Given the description of an element on the screen output the (x, y) to click on. 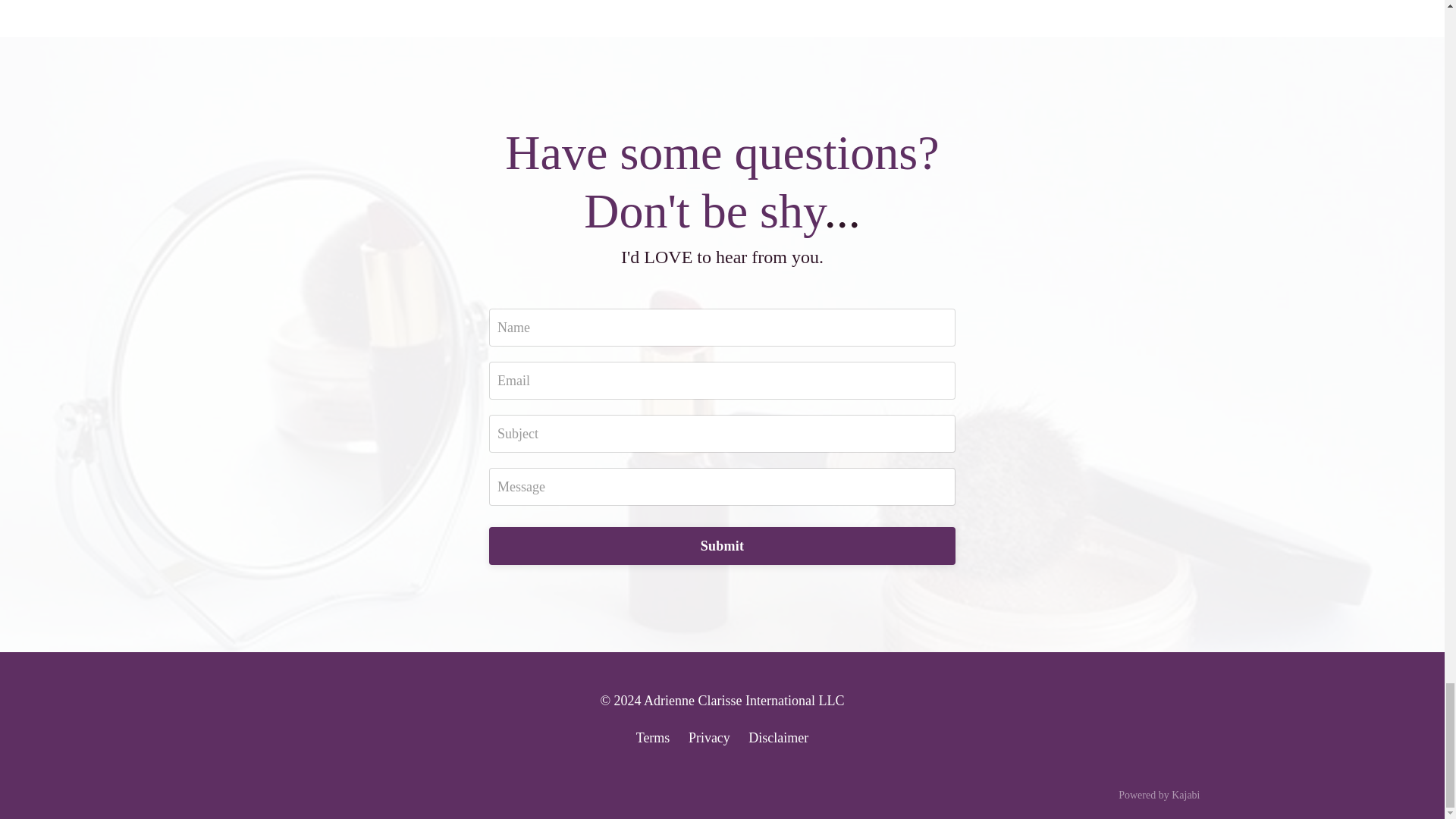
Disclaimer (778, 737)
Privacy (709, 737)
Terms (652, 737)
Powered by Kajabi (1158, 794)
Submit (722, 546)
